Given the description of an element on the screen output the (x, y) to click on. 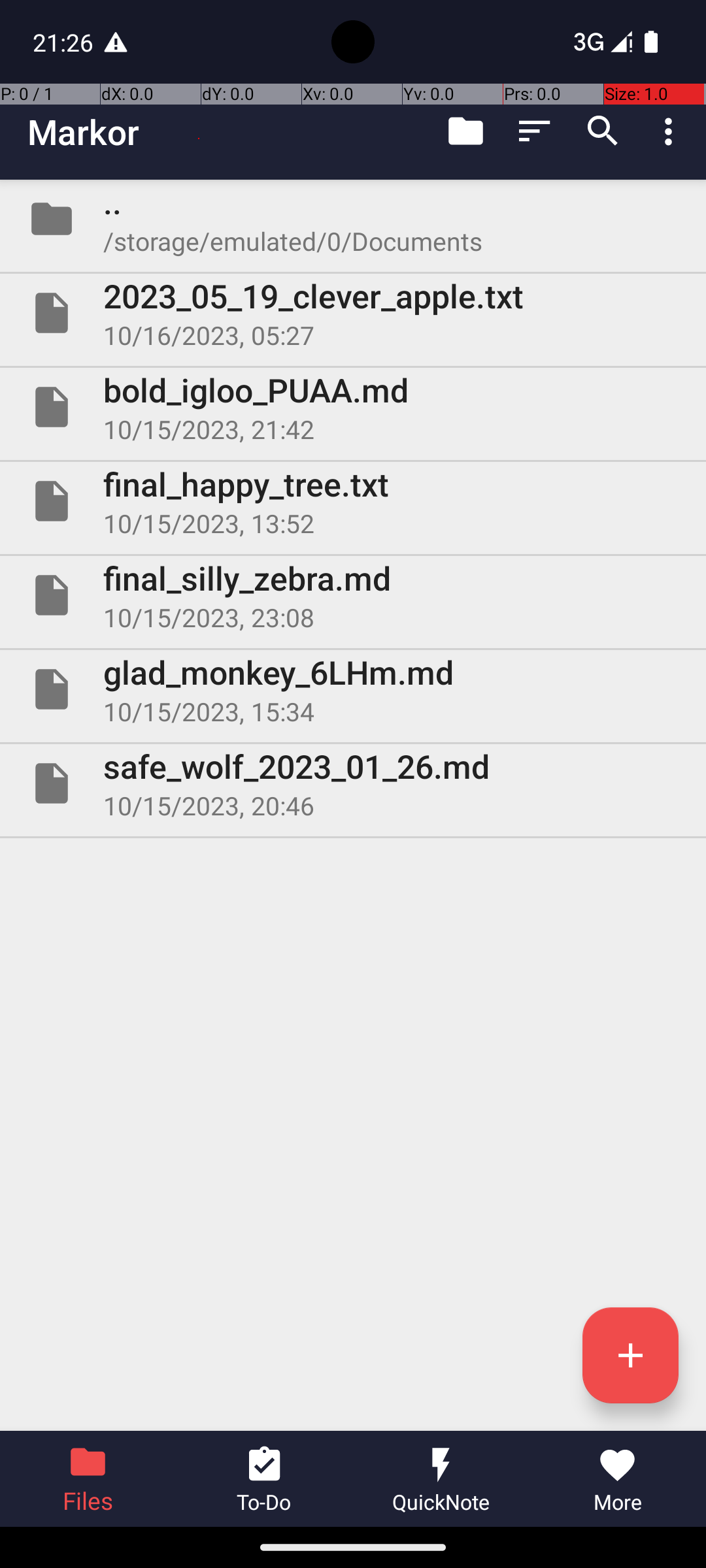
File 2023_05_19_clever_apple.txt  Element type: android.widget.LinearLayout (353, 312)
File bold_igloo_PUAA.md  Element type: android.widget.LinearLayout (353, 406)
File final_happy_tree.txt  Element type: android.widget.LinearLayout (353, 500)
File final_silly_zebra.md  Element type: android.widget.LinearLayout (353, 594)
File glad_monkey_6LHm.md  Element type: android.widget.LinearLayout (353, 689)
File safe_wolf_2023_01_26.md  Element type: android.widget.LinearLayout (353, 783)
21:26 Element type: android.widget.TextView (64, 41)
